Given the description of an element on the screen output the (x, y) to click on. 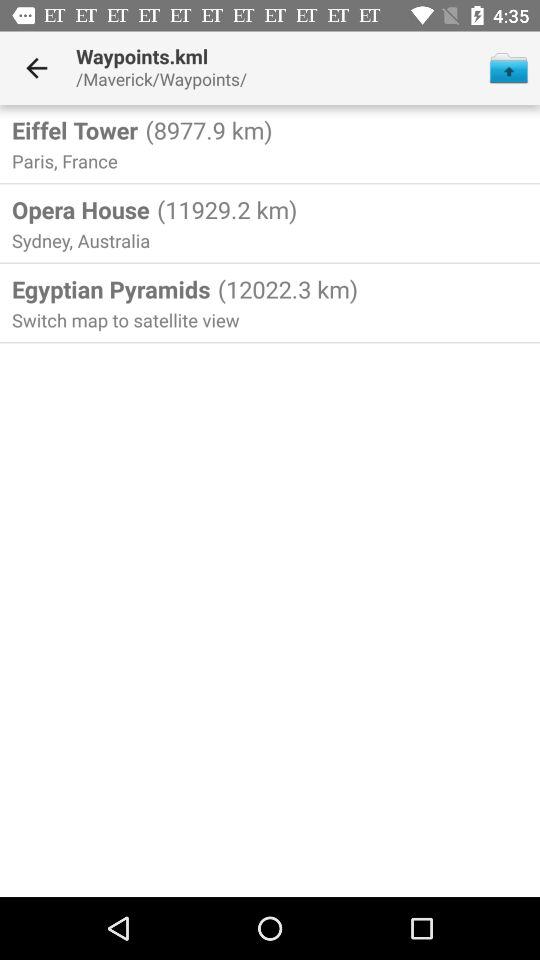
flip until the egyptian pyramids item (111, 289)
